Given the description of an element on the screen output the (x, y) to click on. 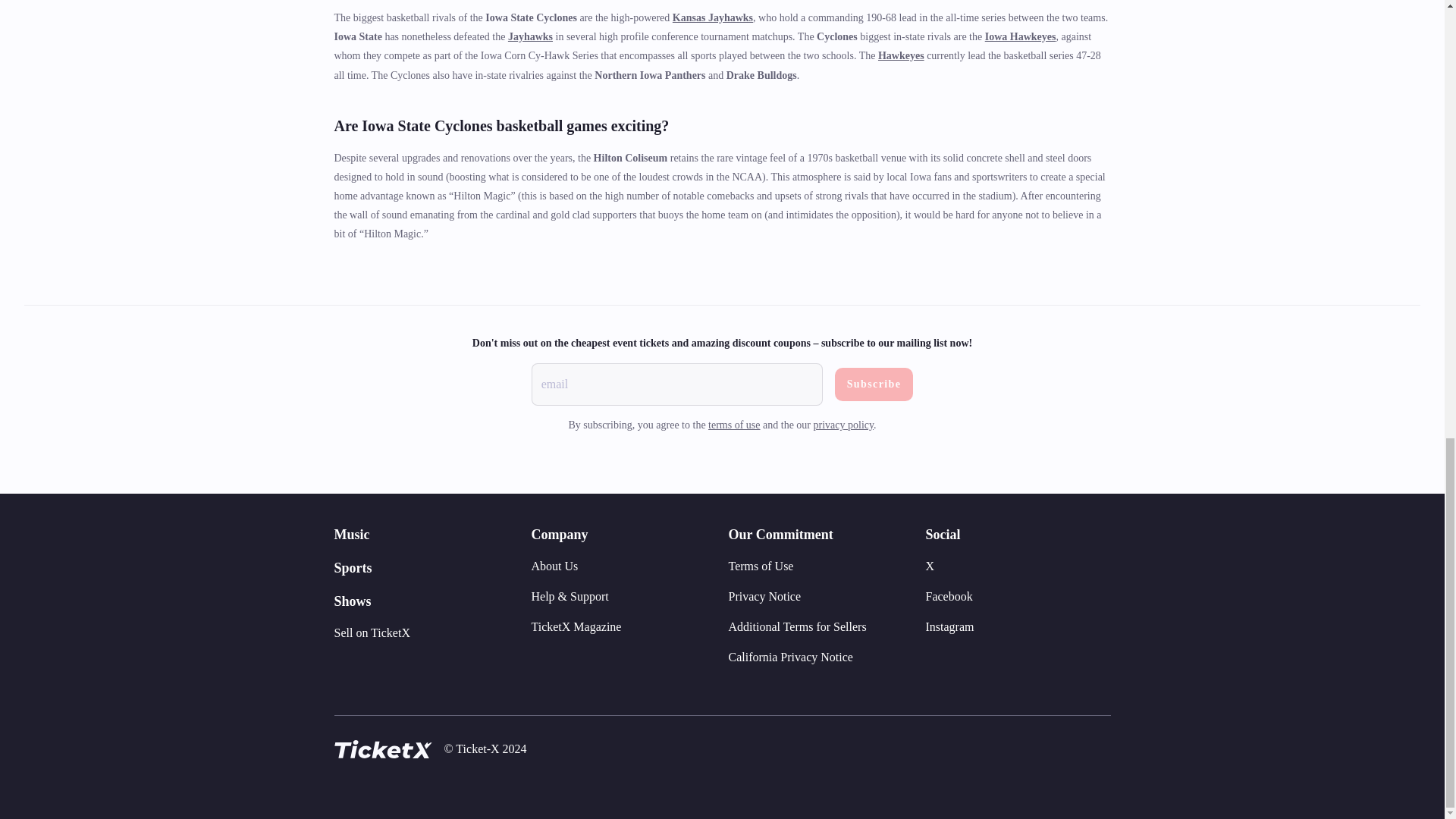
Hawkeyes (900, 55)
Kansas Jayhawks (712, 17)
privacy policy (844, 424)
terms of use (733, 424)
Jayhawks (530, 36)
Sports (352, 567)
Music (351, 534)
Shows (352, 601)
Subscribe (874, 384)
Sell on TicketX (371, 632)
Iowa Hawkeyes (1021, 36)
